Given the description of an element on the screen output the (x, y) to click on. 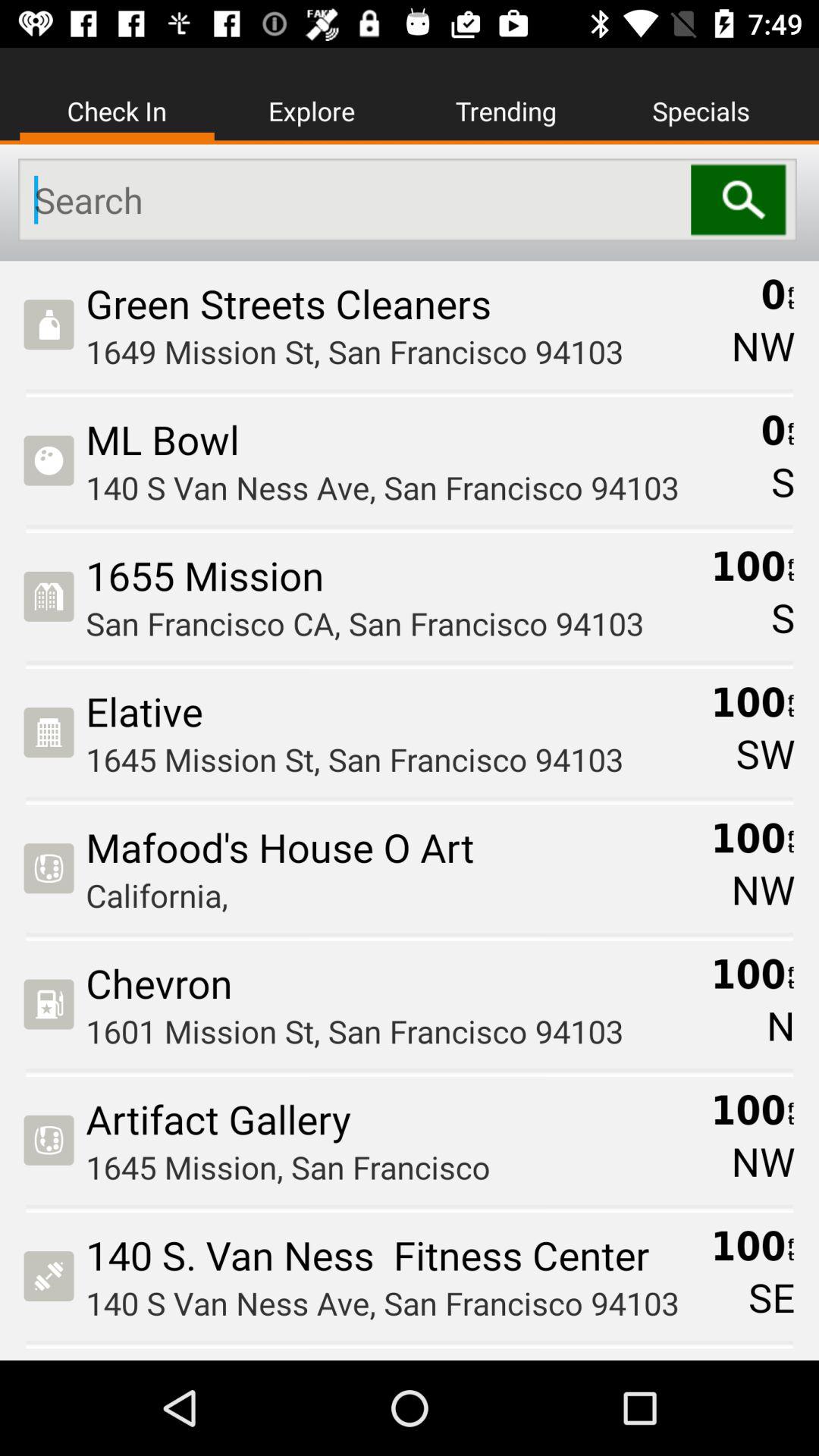
swipe until the chevron (392, 982)
